Given the description of an element on the screen output the (x, y) to click on. 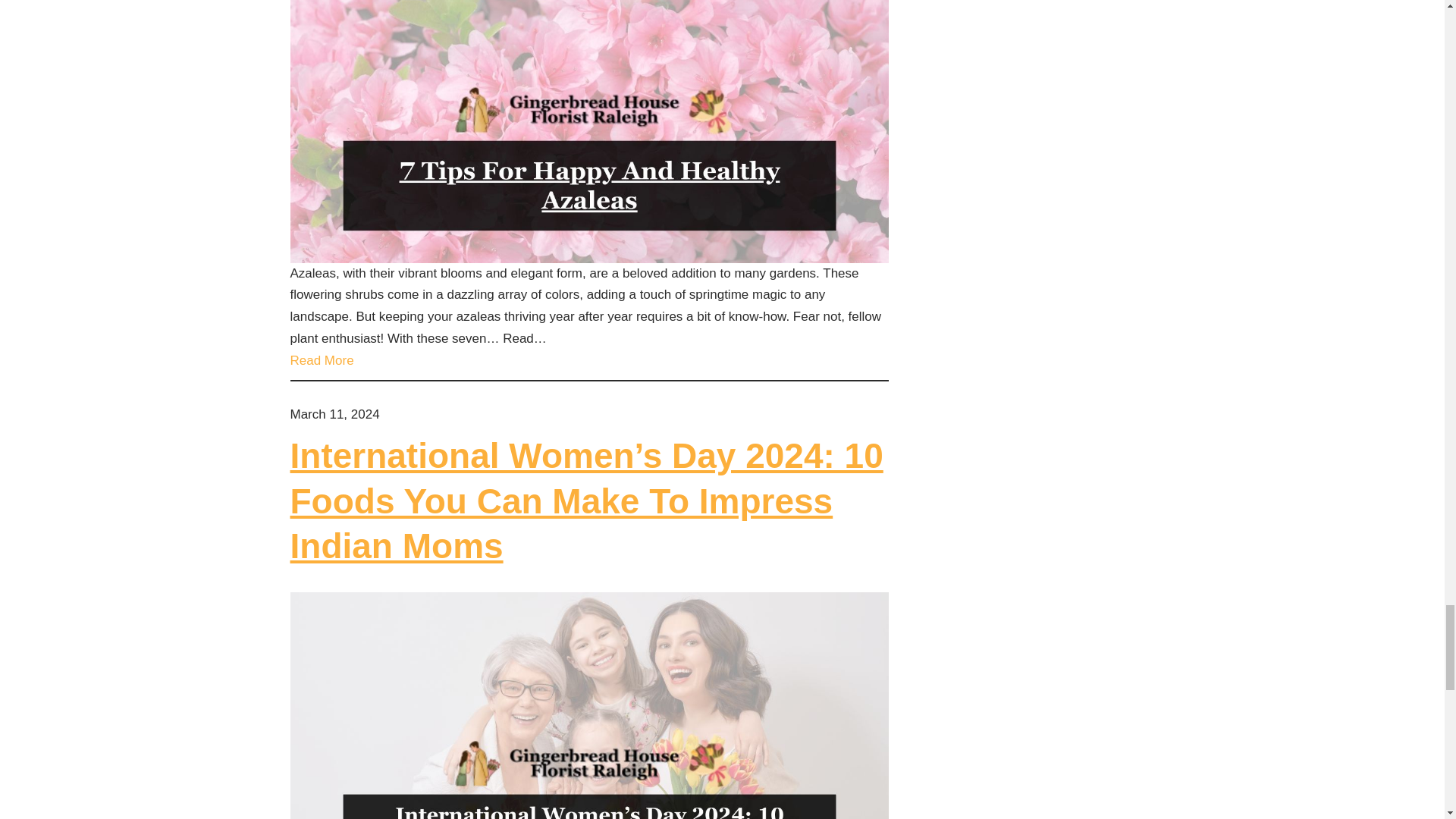
Read More (321, 361)
